Given the description of an element on the screen output the (x, y) to click on. 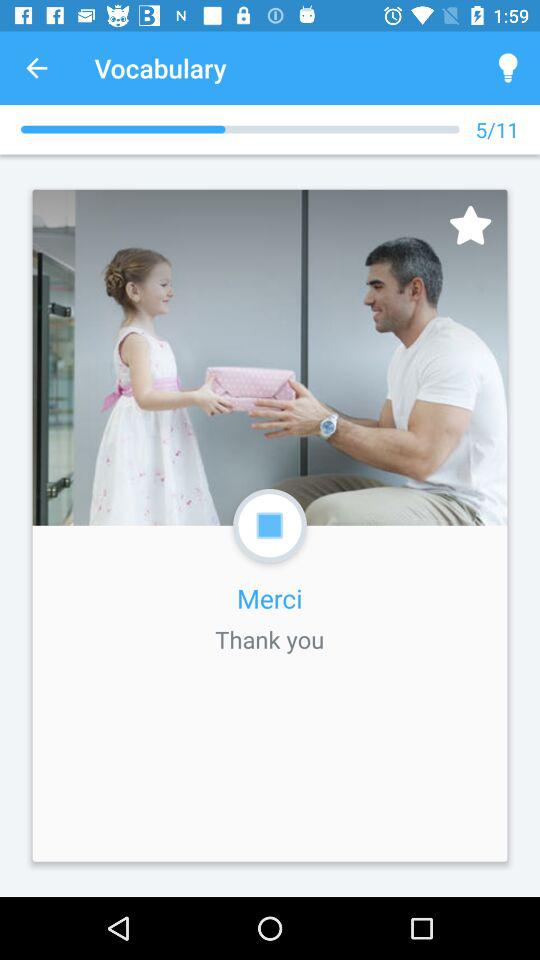
select the icon next to vocabulary item (508, 67)
